Given the description of an element on the screen output the (x, y) to click on. 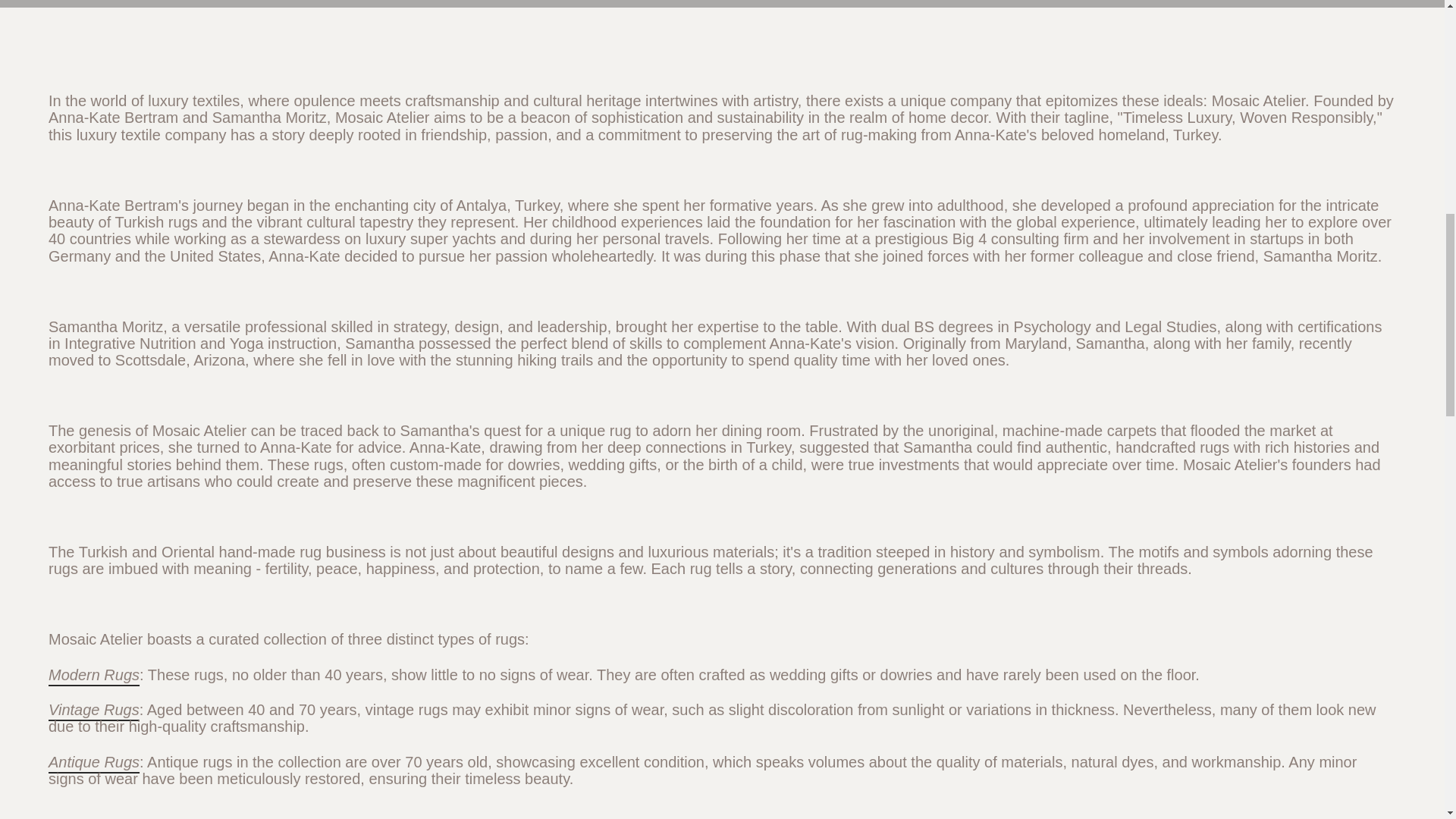
Modern Rugs (93, 674)
Antique Rugs (93, 761)
Vintage Rugs (93, 709)
